Given the description of an element on the screen output the (x, y) to click on. 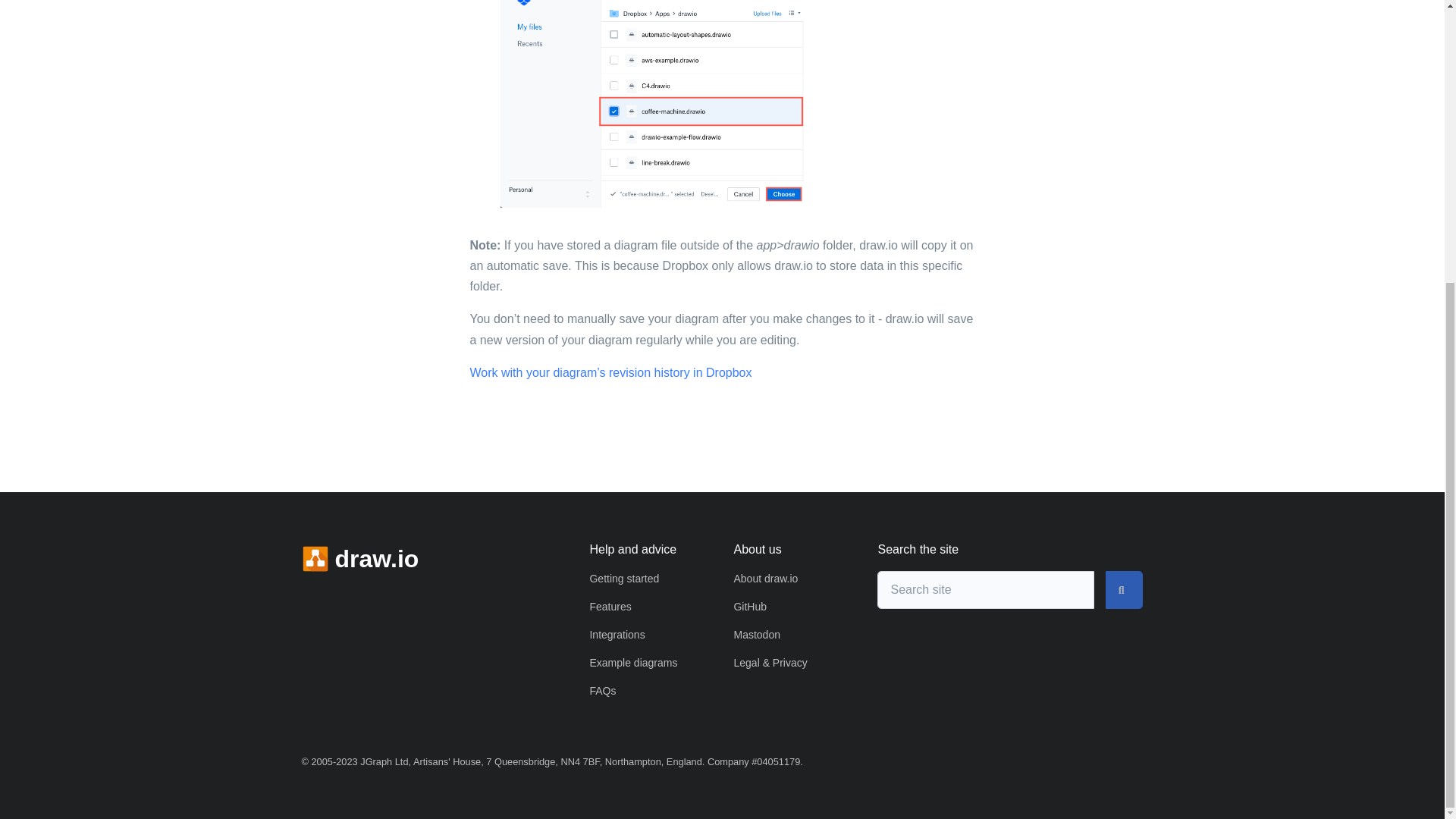
Integrations (617, 634)
Example diagrams (633, 662)
draw.io (360, 558)
Mastodon (755, 634)
About draw.io (765, 578)
FAQs (602, 690)
GitHub (750, 606)
Getting started (624, 578)
Features (609, 606)
